Given the description of an element on the screen output the (x, y) to click on. 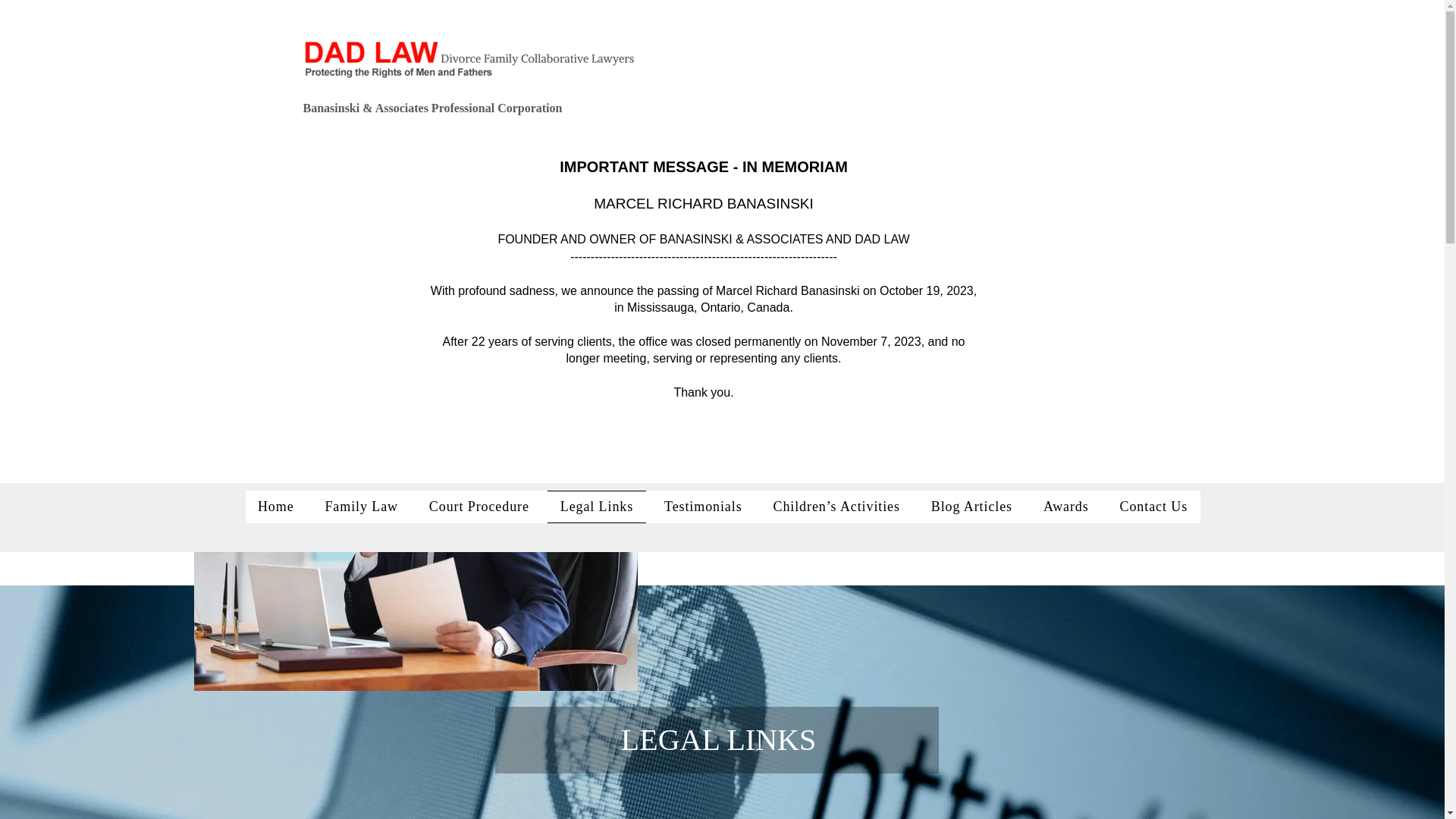
Home (276, 506)
Court Procedure (478, 506)
Testimonials (703, 506)
Legal Links (596, 506)
Blog Articles (971, 506)
Contact Us (1152, 506)
Awards (1065, 506)
